Given the description of an element on the screen output the (x, y) to click on. 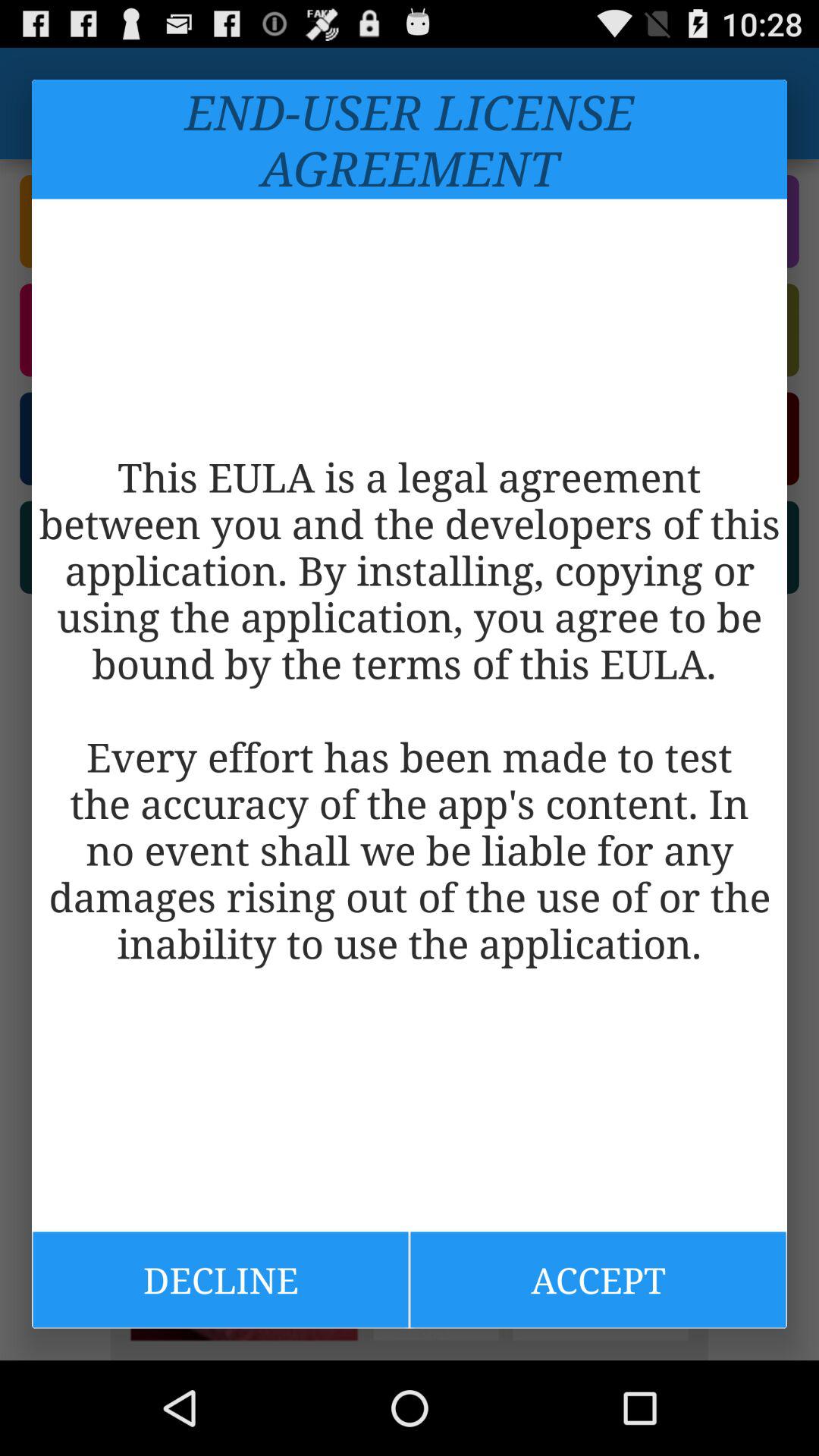
open the decline (220, 1279)
